Given the description of an element on the screen output the (x, y) to click on. 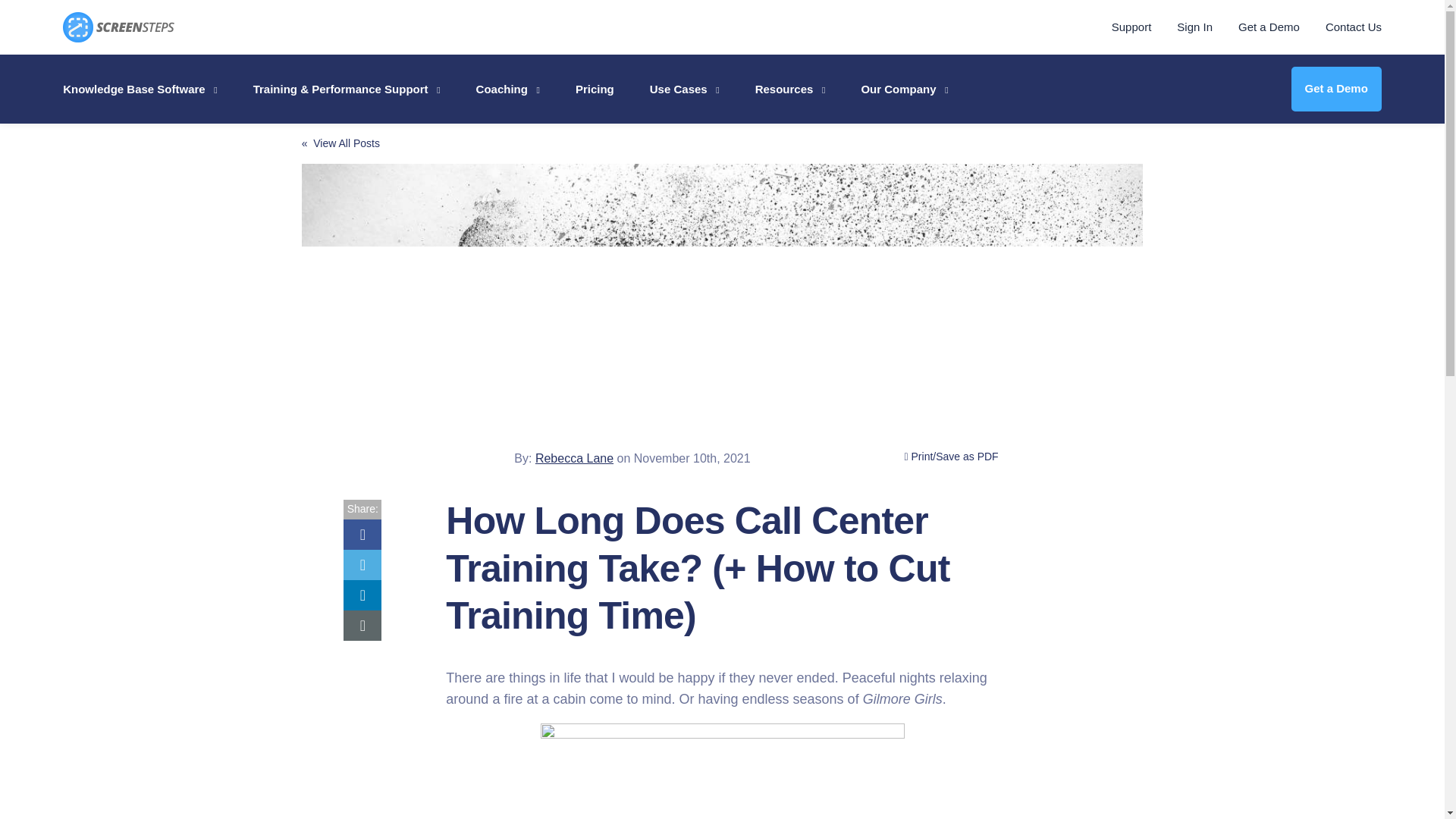
Support (1131, 27)
Share on Facebook (362, 534)
Coaching (507, 89)
Share on Twitter (362, 564)
Sign In (1194, 27)
Get a Demo (1269, 27)
Share on Linkedin (362, 594)
Pricing (594, 89)
Knowledge Base Software (140, 89)
Share via Email (362, 625)
Use Cases (684, 89)
Get a Demo (1335, 88)
Contact Us (1352, 27)
Rebecca Lane (475, 440)
